Given the description of an element on the screen output the (x, y) to click on. 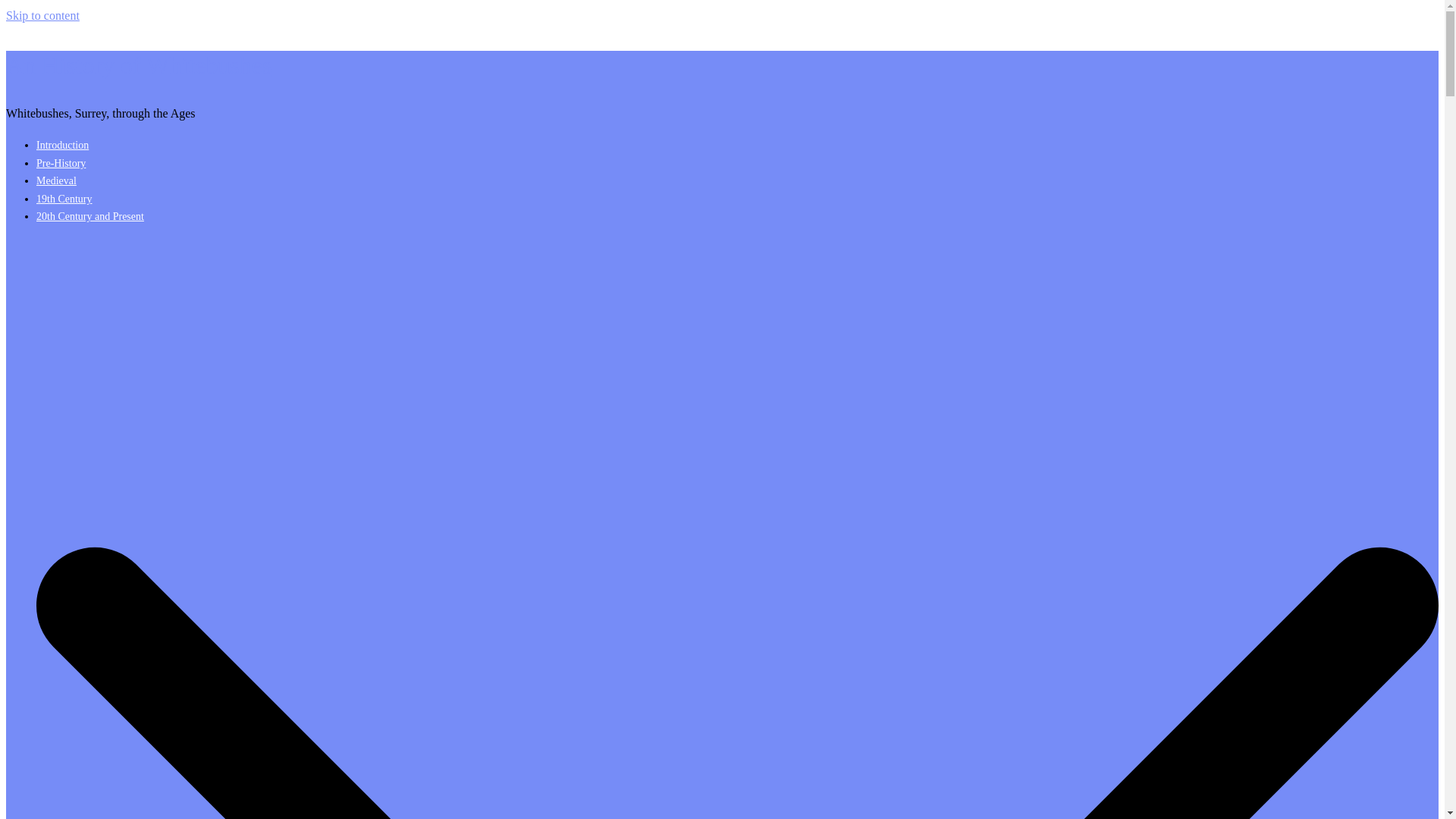
Medieval (56, 180)
19th Century (64, 198)
Skip to content (42, 15)
Pre-History (60, 163)
An History of Whitebushes (137, 64)
Introduction (62, 144)
20th Century and Present (90, 215)
